Given the description of an element on the screen output the (x, y) to click on. 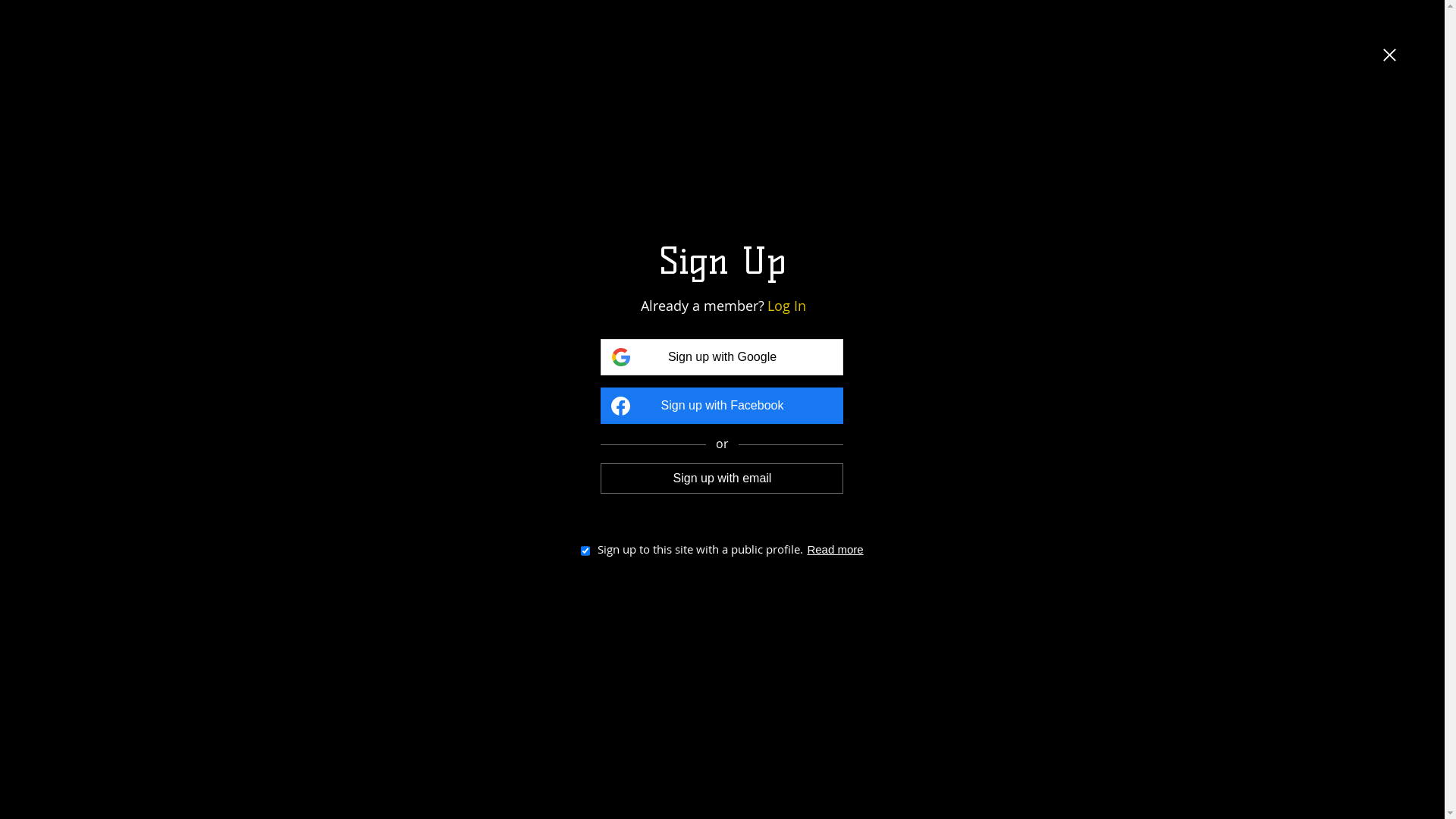
Sign up with email Element type: text (721, 478)
Log In Element type: text (786, 305)
Sign up with Facebook Element type: text (721, 405)
Sign up with Google Element type: text (721, 356)
Read more Element type: text (834, 548)
